Given the description of an element on the screen output the (x, y) to click on. 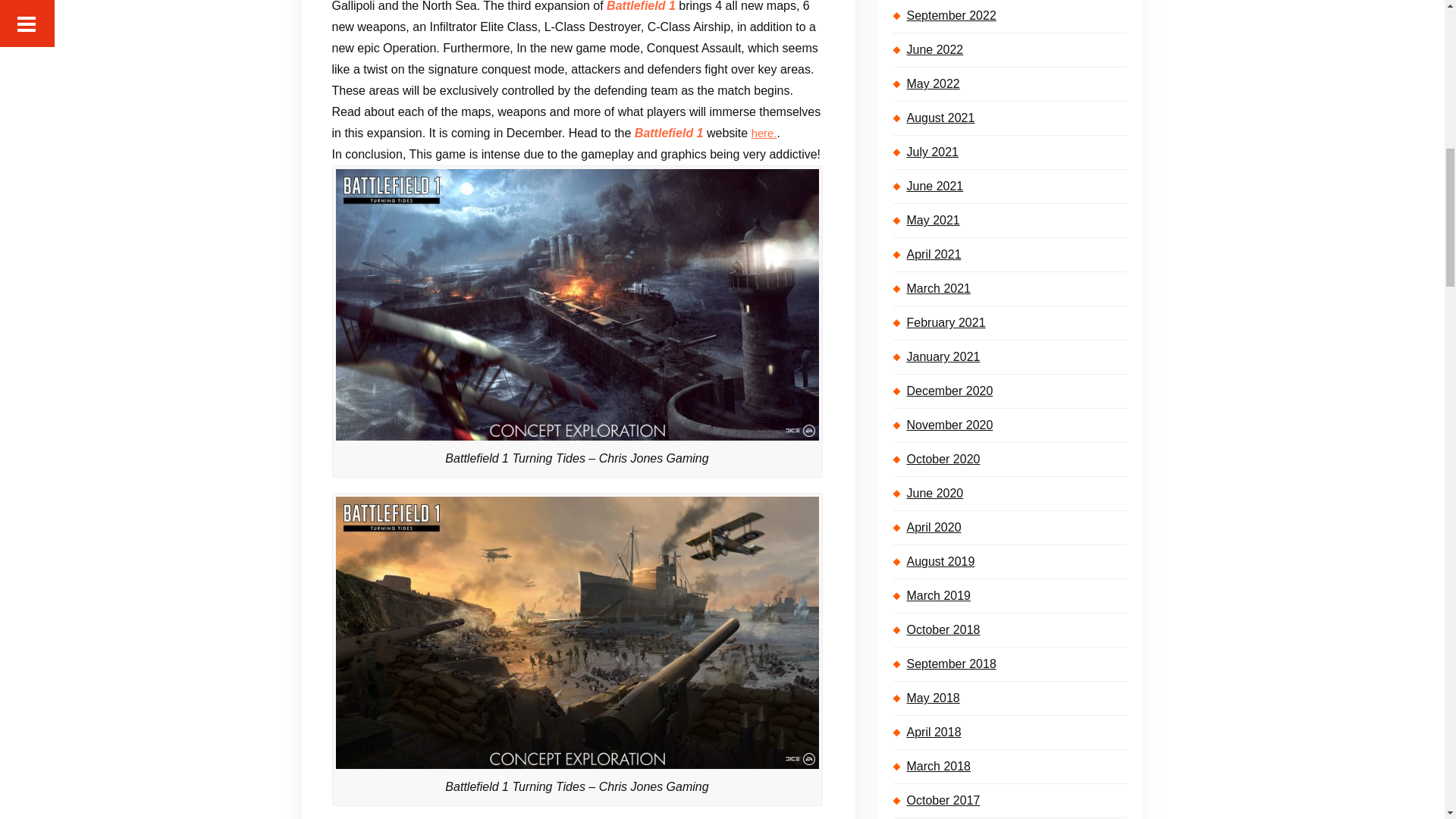
here. (764, 133)
